Given the description of an element on the screen output the (x, y) to click on. 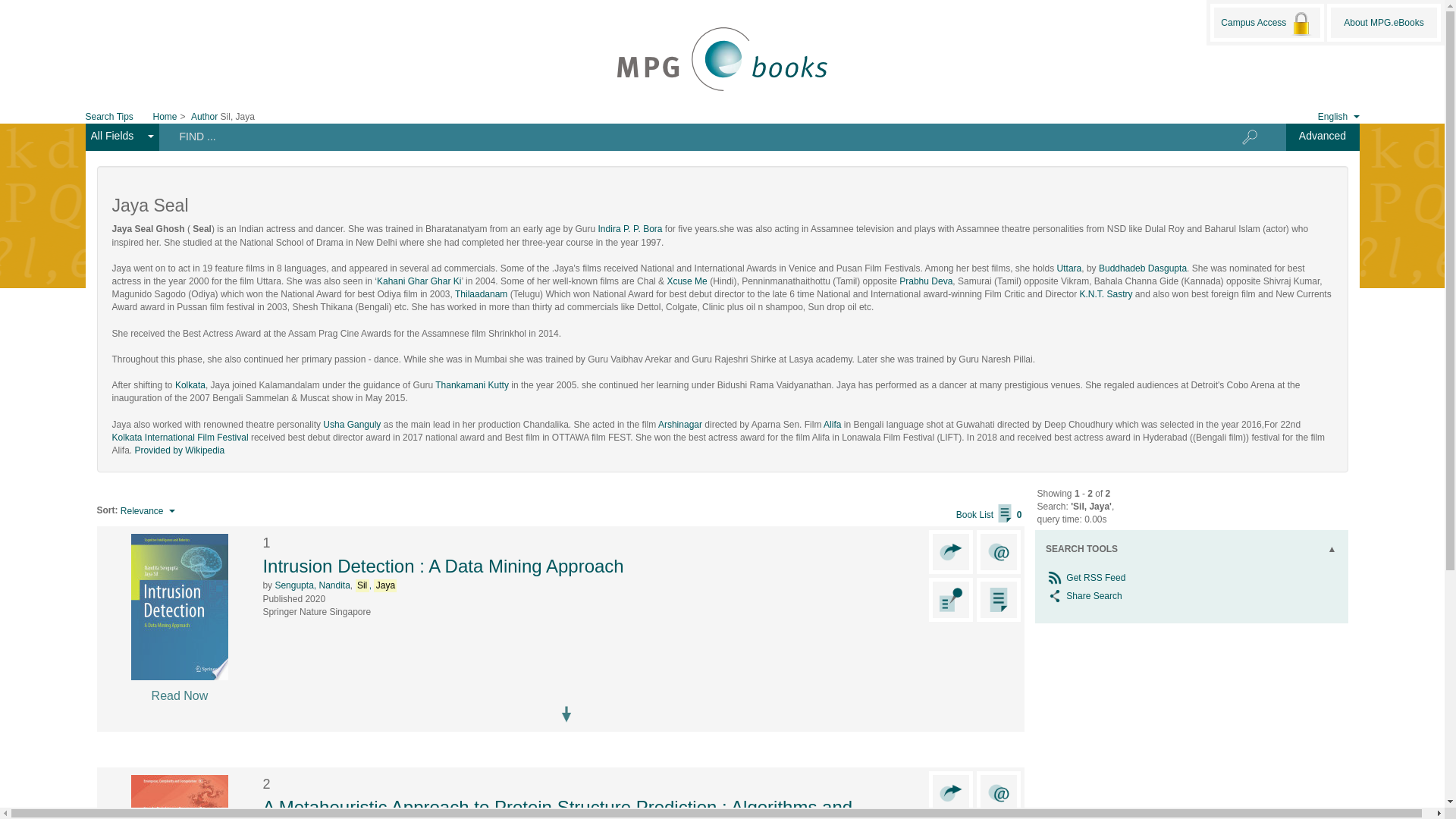
Xcuse Me (686, 281)
Language (1326, 116)
Uttara (1069, 267)
All Fields (121, 136)
Get full text (178, 653)
Author (203, 116)
Home (164, 116)
View Book List (989, 514)
Book List 0 (989, 514)
Email Record (997, 792)
